Given the description of an element on the screen output the (x, y) to click on. 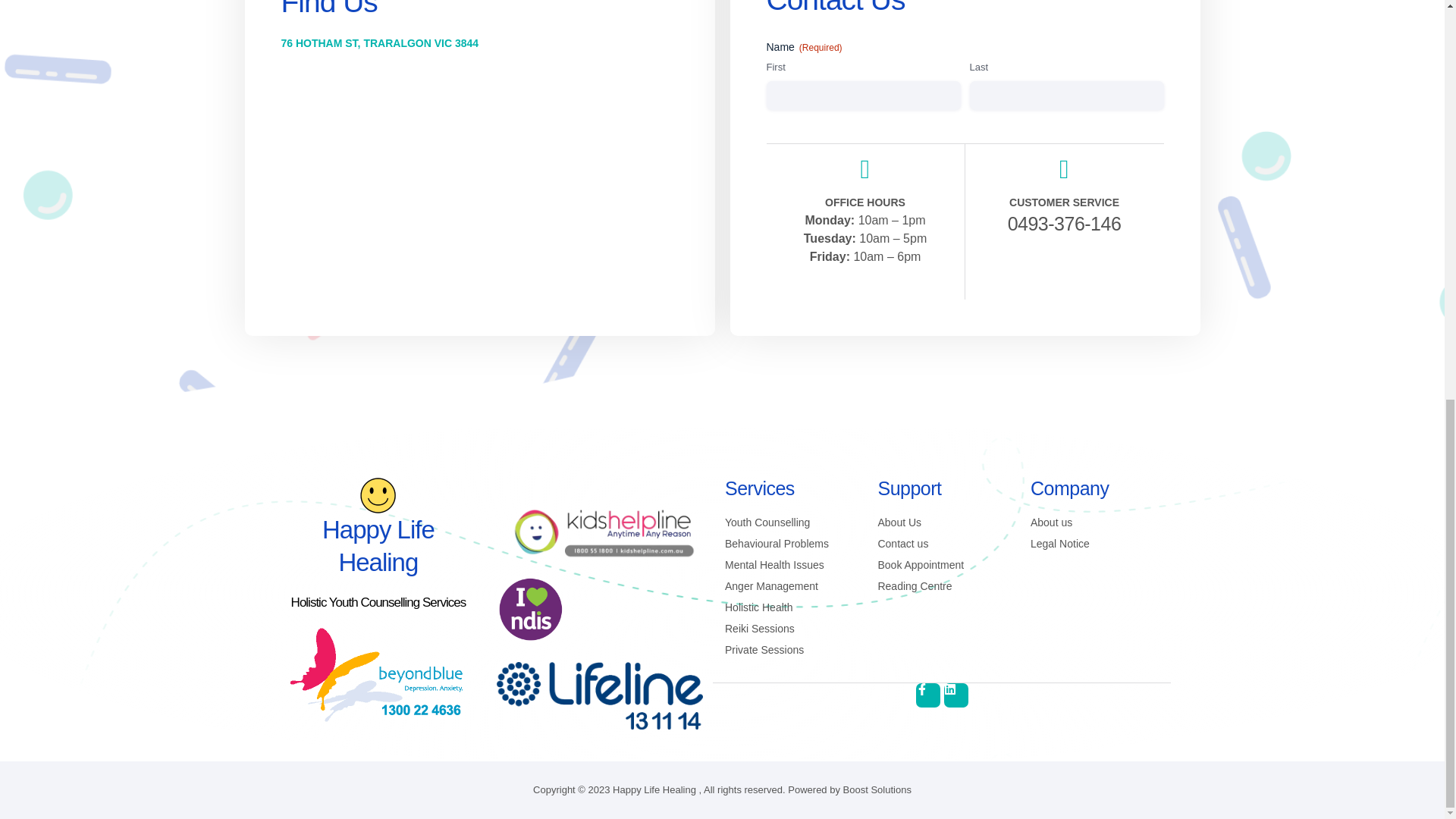
76 Hotham St, Traralgon VIC 3844 (479, 181)
0493-376-146 (1036, 223)
Anger Management (789, 586)
Private Sessions (789, 650)
Mental Health Issues (789, 565)
cropped-cropped-logo-clear.png (377, 495)
Contact us (941, 544)
Behavioural Problems (789, 544)
Book Appointment (941, 565)
Reiki Sessions (789, 628)
Holistic Health (789, 607)
About Us (941, 522)
Youth Counselling (789, 522)
Reading Centre (941, 586)
